Given the description of an element on the screen output the (x, y) to click on. 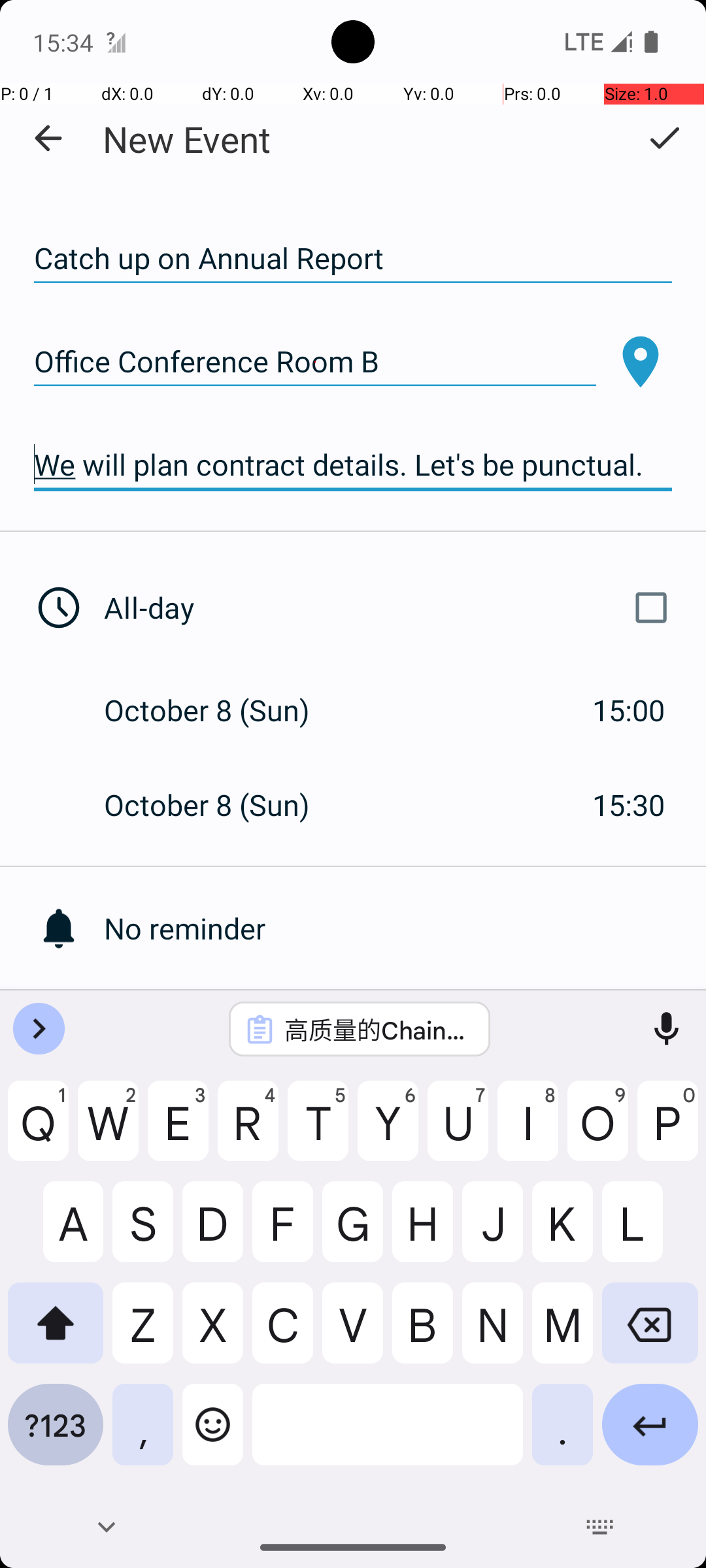
Office Conference Room B Element type: android.widget.EditText (314, 361)
We will plan contract details. Let's be punctual. Element type: android.widget.EditText (352, 465)
October 8 (Sun) Element type: android.widget.TextView (220, 709)
15:00 Element type: android.widget.TextView (628, 709)
15:30 Element type: android.widget.TextView (628, 804)
高质量的Chain of Thought (CoT)数据收集和标注(花重金找phd人工标注，主要是cs phd，100刀一小时 Element type: android.widget.TextView (376, 1028)
